Given the description of an element on the screen output the (x, y) to click on. 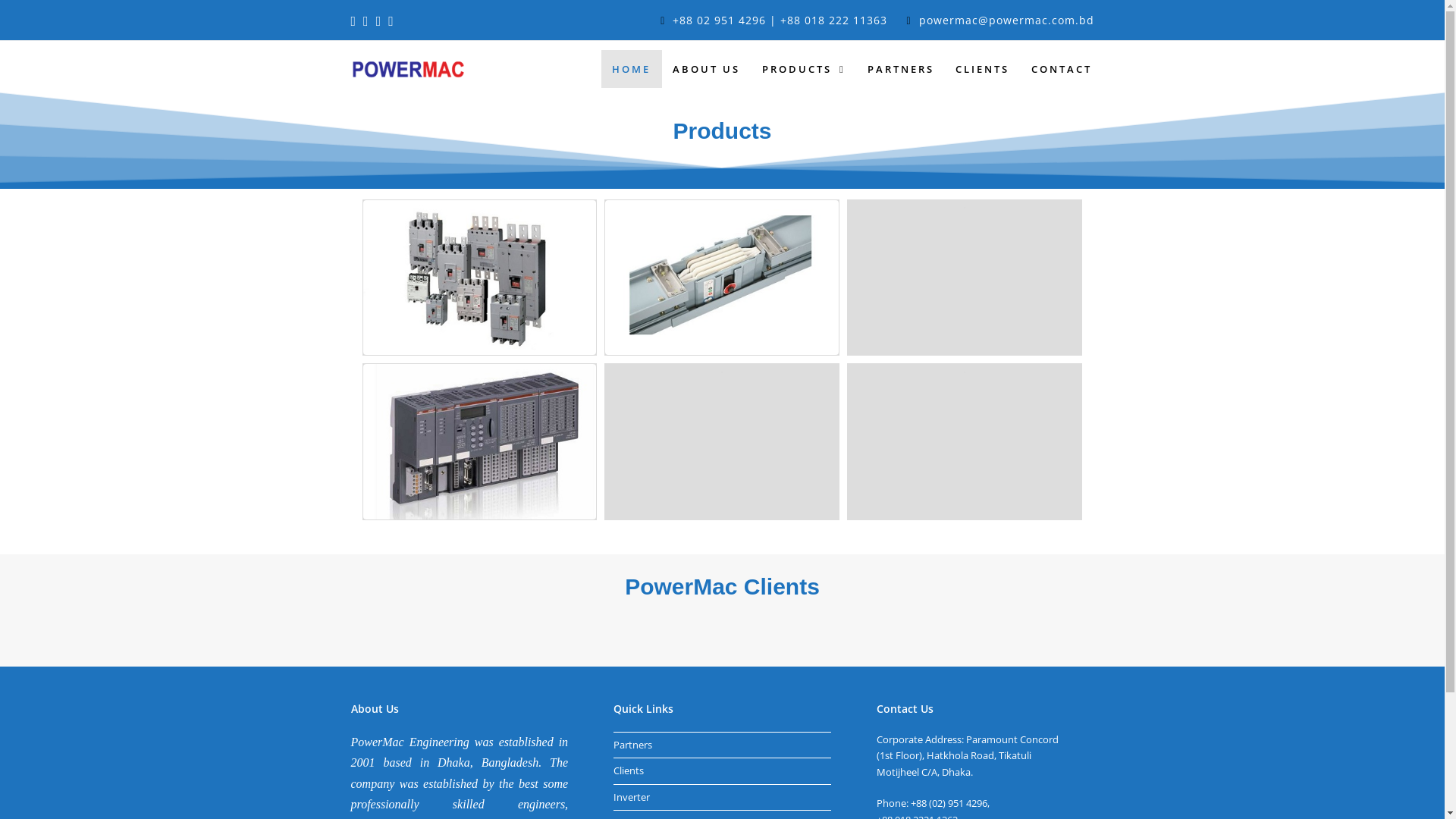
CLIENTS Element type: text (982, 68)
Google Plus Element type: hover (365, 20)
Inverter Element type: text (631, 796)
HOME Element type: text (631, 68)
LinkedIn Element type: hover (378, 20)
Partners Element type: text (632, 744)
PowerMac Engineering Element type: hover (407, 68)
ABOUT US Element type: text (706, 68)
Skype Element type: hover (390, 20)
Clients Element type: text (628, 770)
PRODUCTS Element type: text (803, 68)
Facebook Element type: hover (352, 20)
CONTACT Element type: text (1061, 68)
PARTNERS Element type: text (900, 68)
